Given the description of an element on the screen output the (x, y) to click on. 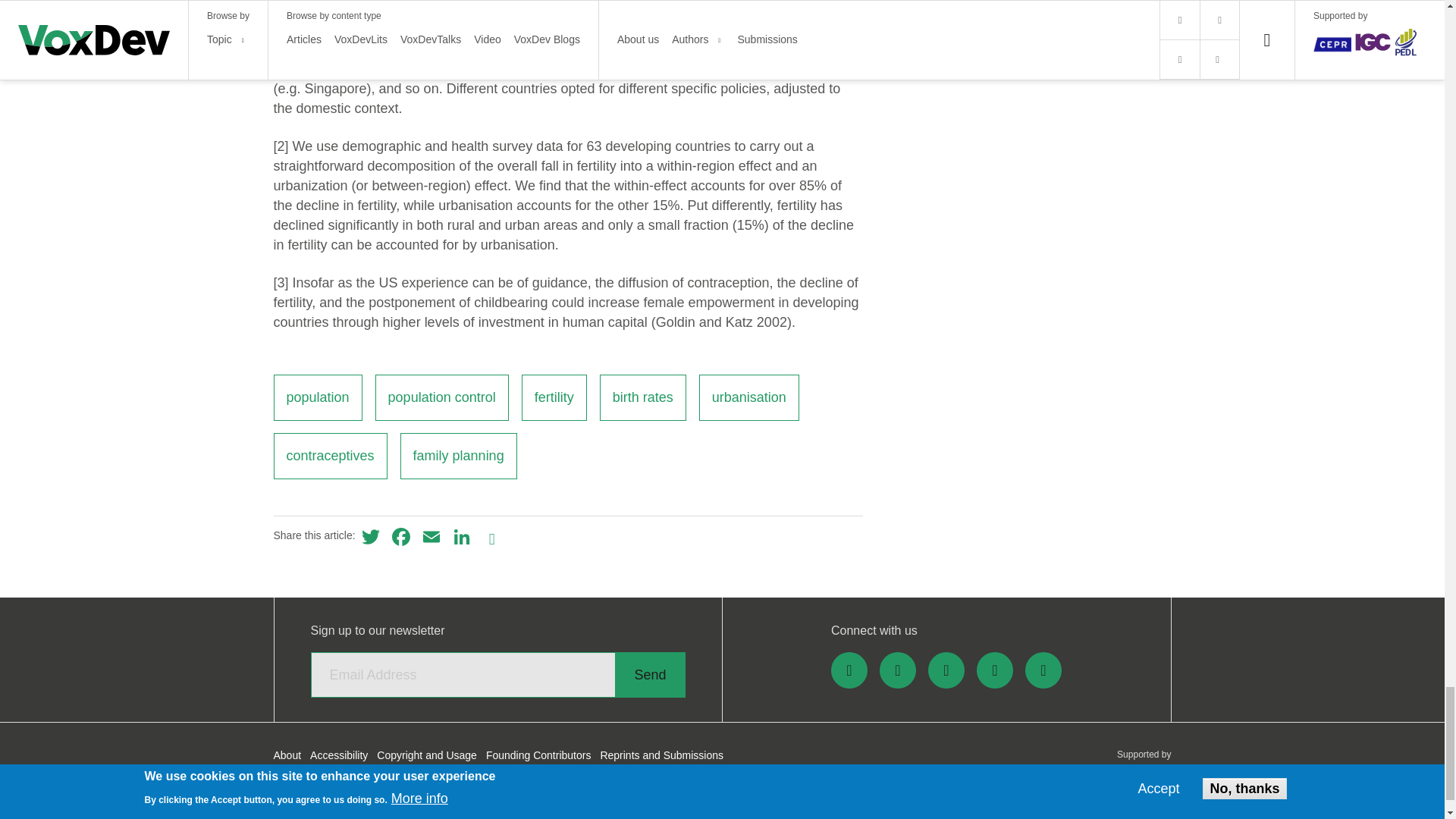
fertility (553, 397)
Send (649, 674)
population control (441, 397)
birth rates (642, 397)
population (317, 397)
